Given the description of an element on the screen output the (x, y) to click on. 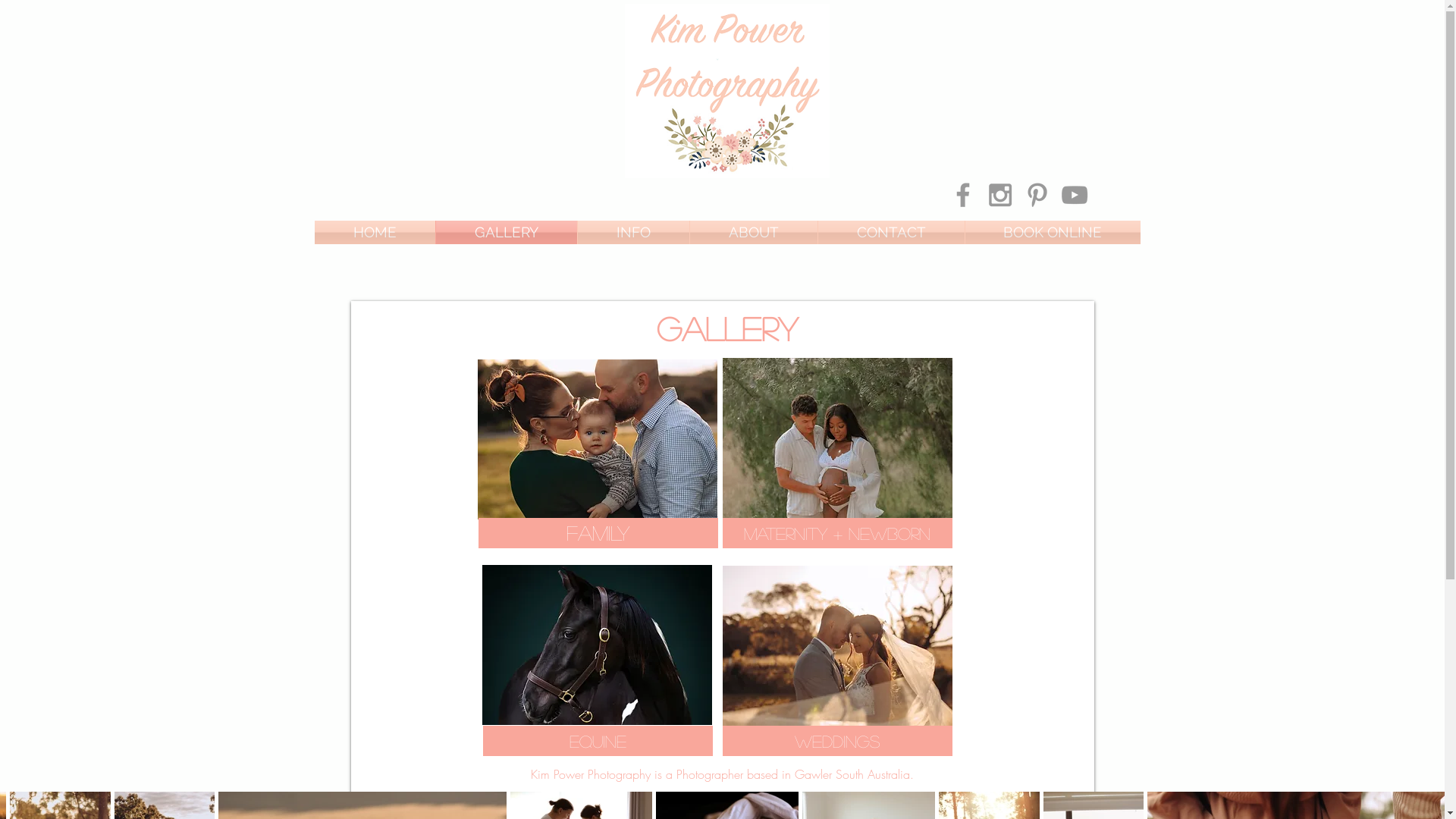
Weddings Element type: text (836, 740)
Logo 2016.png Element type: hover (726, 90)
GALLERY Element type: text (505, 232)
ABOUT Element type: text (753, 232)
BOOK ONLINE Element type: text (1051, 232)
MATERNITY + NEWBORN Element type: text (836, 532)
CONTACT Element type: text (890, 232)
HOME Element type: text (373, 232)
FAMILY Element type: text (597, 532)
INFO Element type: text (633, 232)
Equine Element type: text (597, 740)
